Given the description of an element on the screen output the (x, y) to click on. 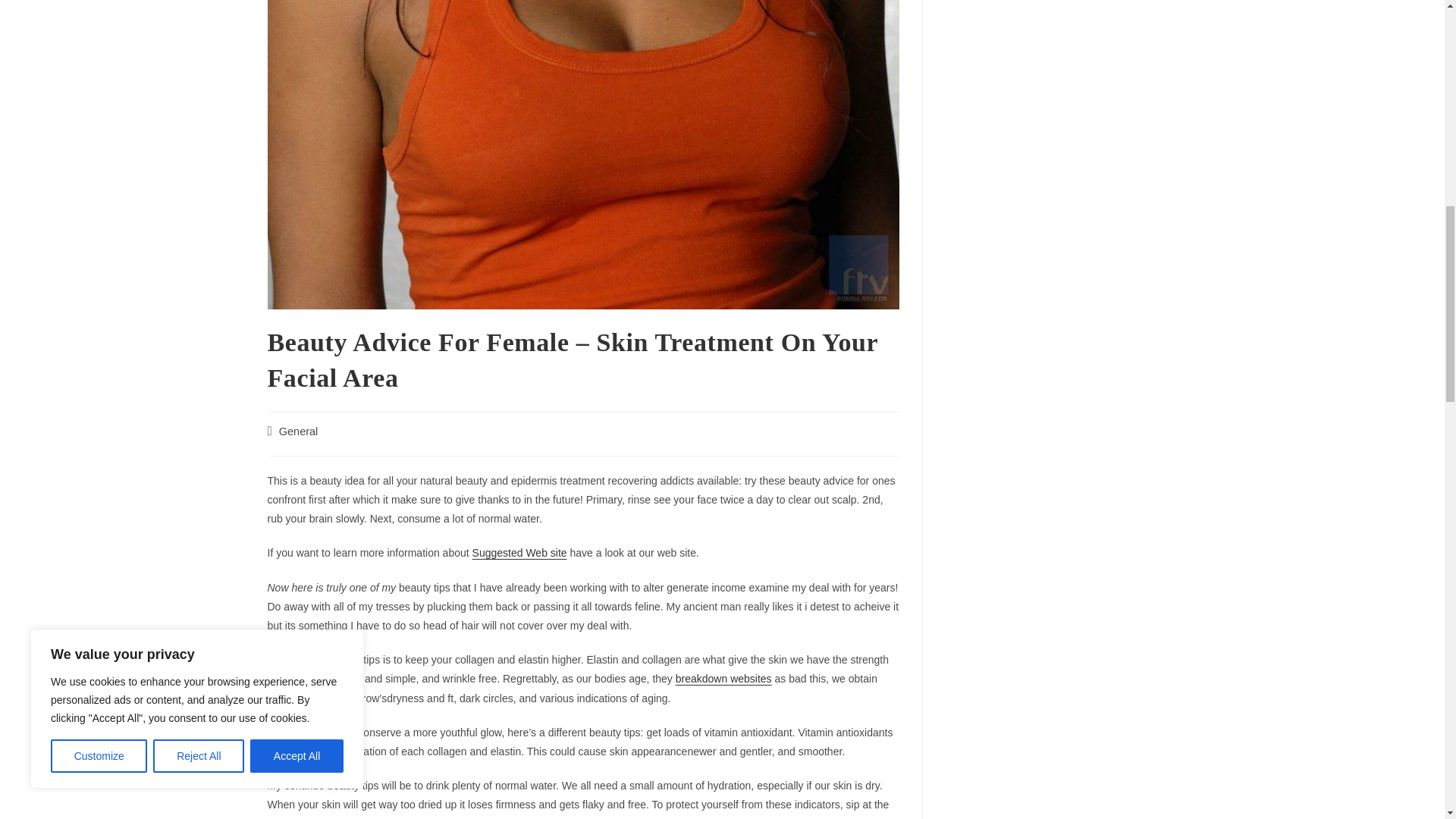
General (298, 431)
Suggested Web site (519, 552)
breakdown websites (723, 678)
